Given the description of an element on the screen output the (x, y) to click on. 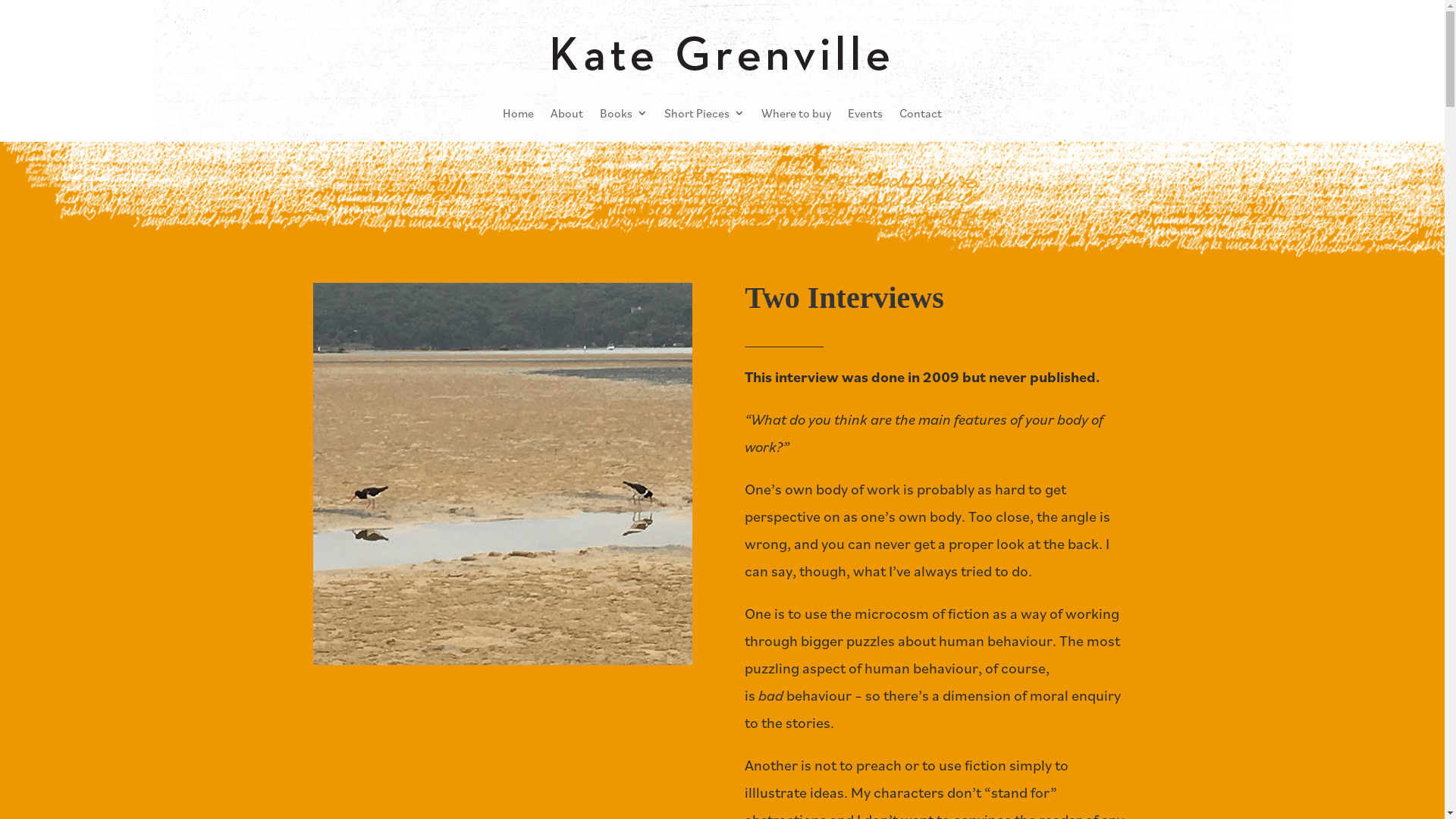
birds Element type: hover (501, 473)
About Element type: text (566, 112)
Where to buy Element type: text (796, 112)
Events Element type: text (864, 112)
Books Element type: text (623, 112)
Short Pieces Element type: text (704, 112)
textured-divider9 Element type: hover (722, 199)
Contact Element type: text (920, 112)
Home Element type: text (517, 112)
